Given the description of an element on the screen output the (x, y) to click on. 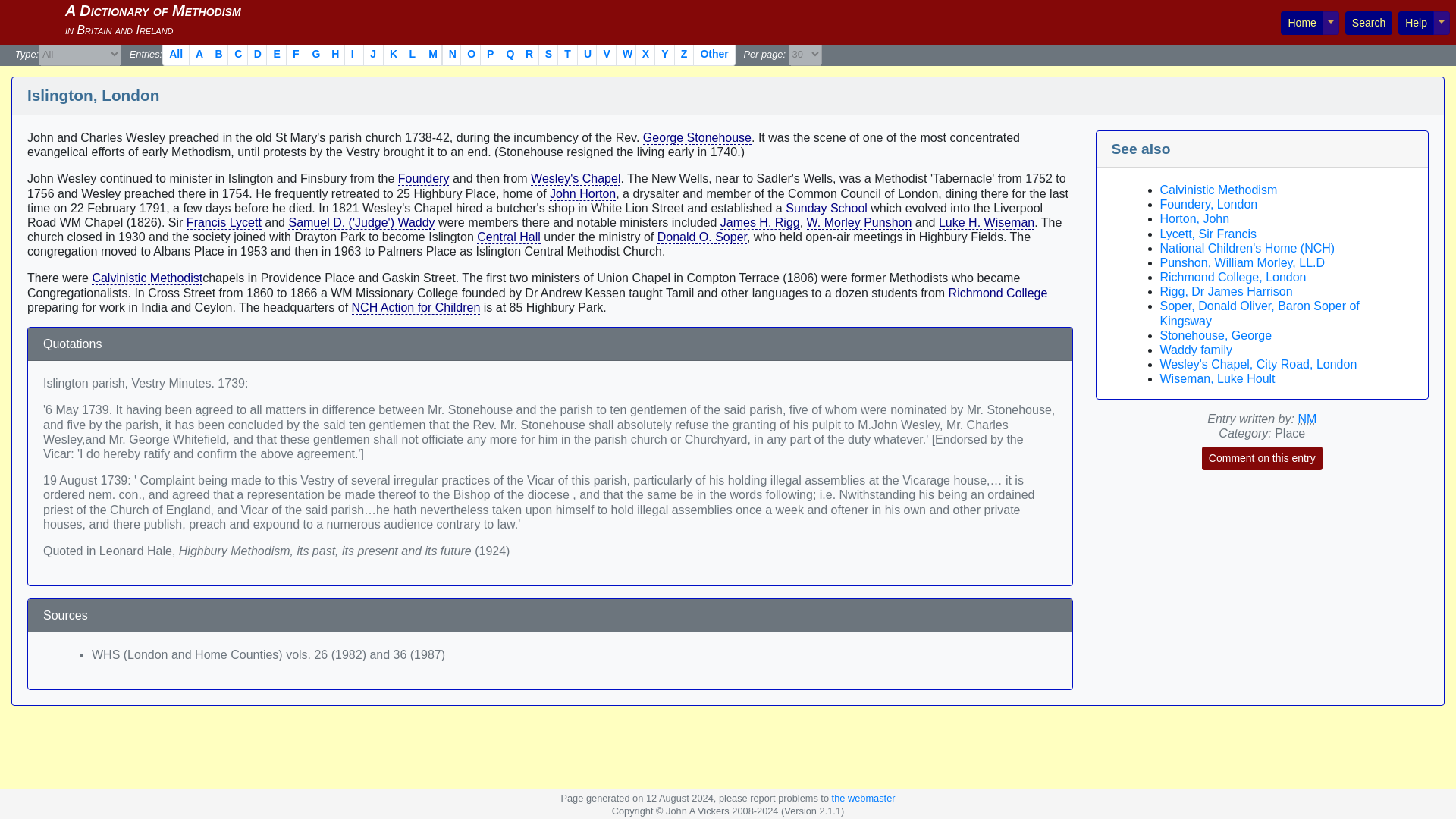
Search (1368, 22)
Entry for James H. Rigg (759, 223)
Entry for Sunday School (826, 208)
Entry for Foundery (423, 178)
All (175, 54)
Search page (1368, 22)
Entry for Francis Lycett (224, 223)
Other (714, 54)
Entry for John Horton (582, 193)
Go to home page (1301, 22)
